Given the description of an element on the screen output the (x, y) to click on. 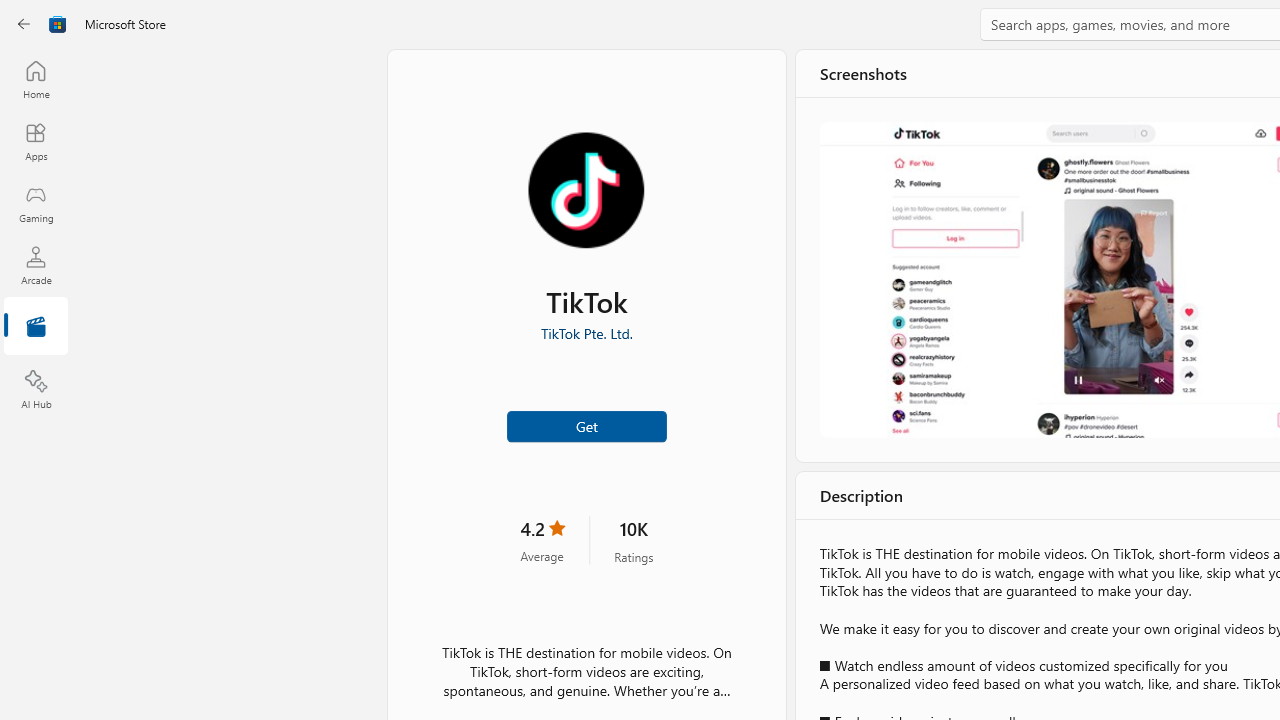
Get (586, 424)
Apps (35, 141)
AI Hub (35, 390)
Arcade (35, 265)
Entertainment (35, 327)
Home (35, 79)
Class: Image (58, 24)
4.2 stars. Click to skip to ratings and reviews (542, 539)
Back (24, 24)
TikTok Pte. Ltd. (586, 333)
Gaming (35, 203)
